Given the description of an element on the screen output the (x, y) to click on. 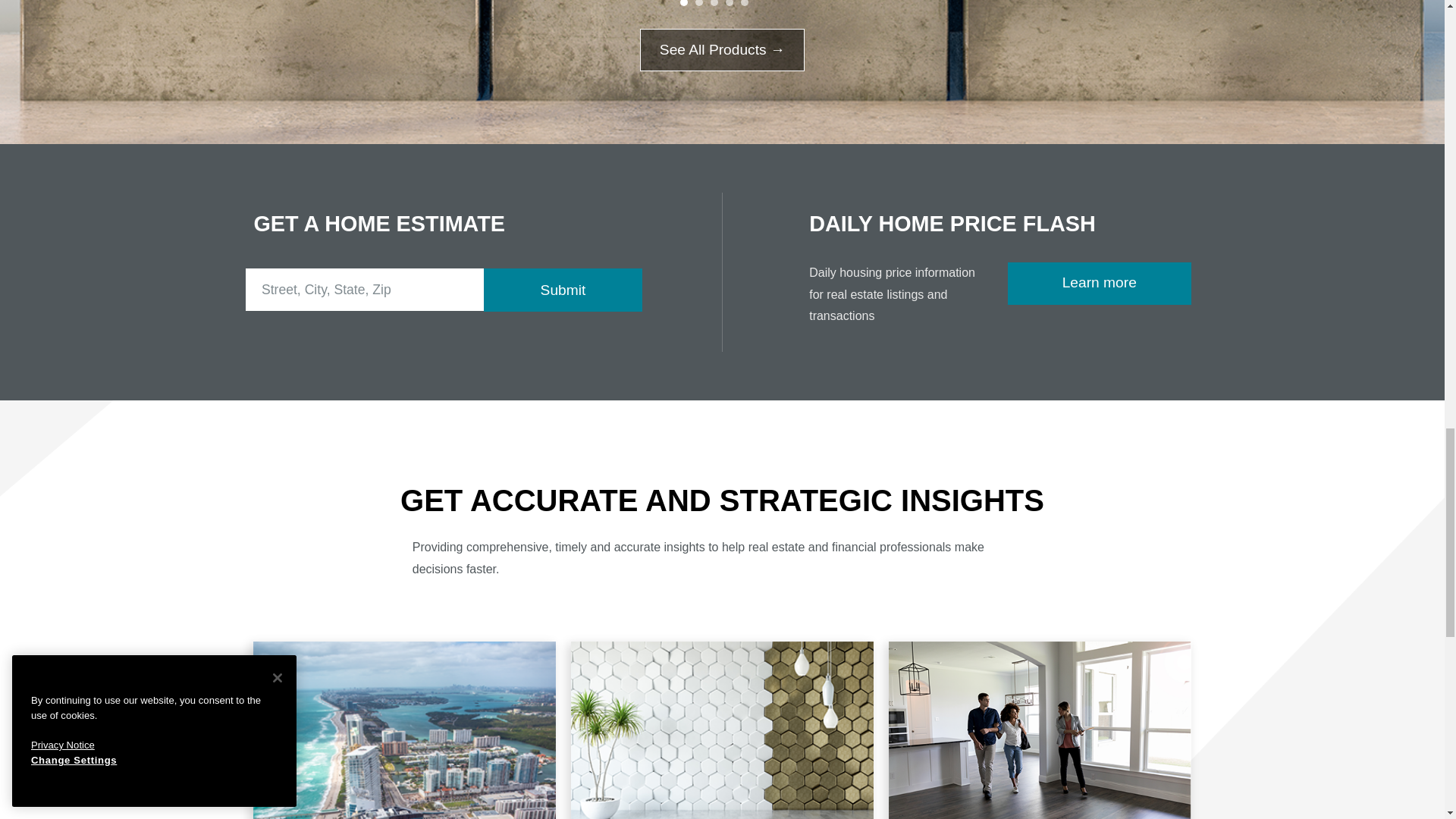
1 (683, 2)
Learn More About Daily Home Price Flash (1099, 283)
